Given the description of an element on the screen output the (x, y) to click on. 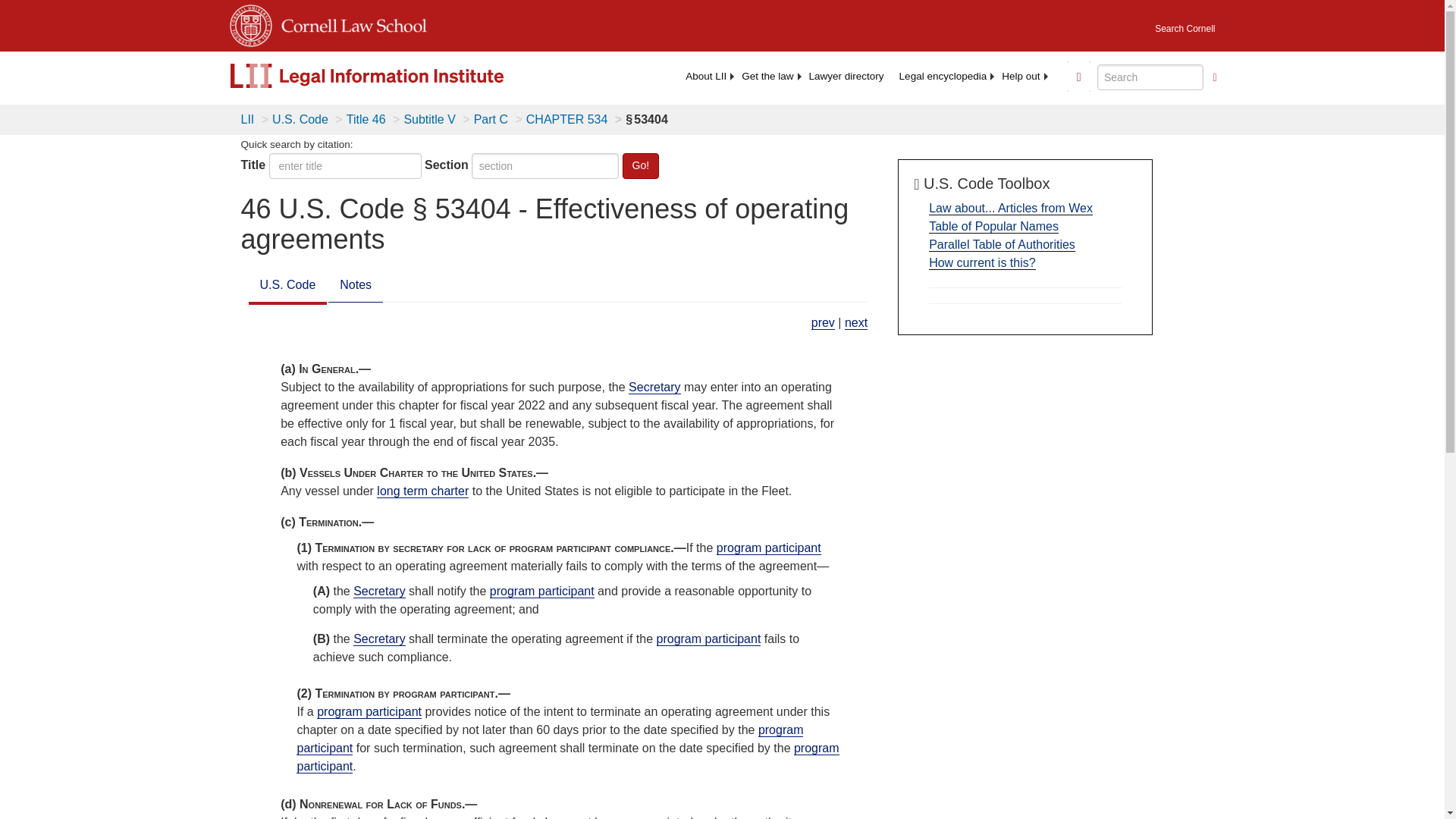
Get the law (766, 76)
Search Cornell (1184, 24)
Search Cornell University (1184, 24)
Lawyer directory (846, 76)
About LII (705, 76)
US Code Title number (345, 166)
Cornell Law School (348, 23)
 Award of operating agreements (822, 323)
Legal encyclopedia (942, 76)
 Obligations and rights under operating agreements (855, 323)
